Given the description of an element on the screen output the (x, y) to click on. 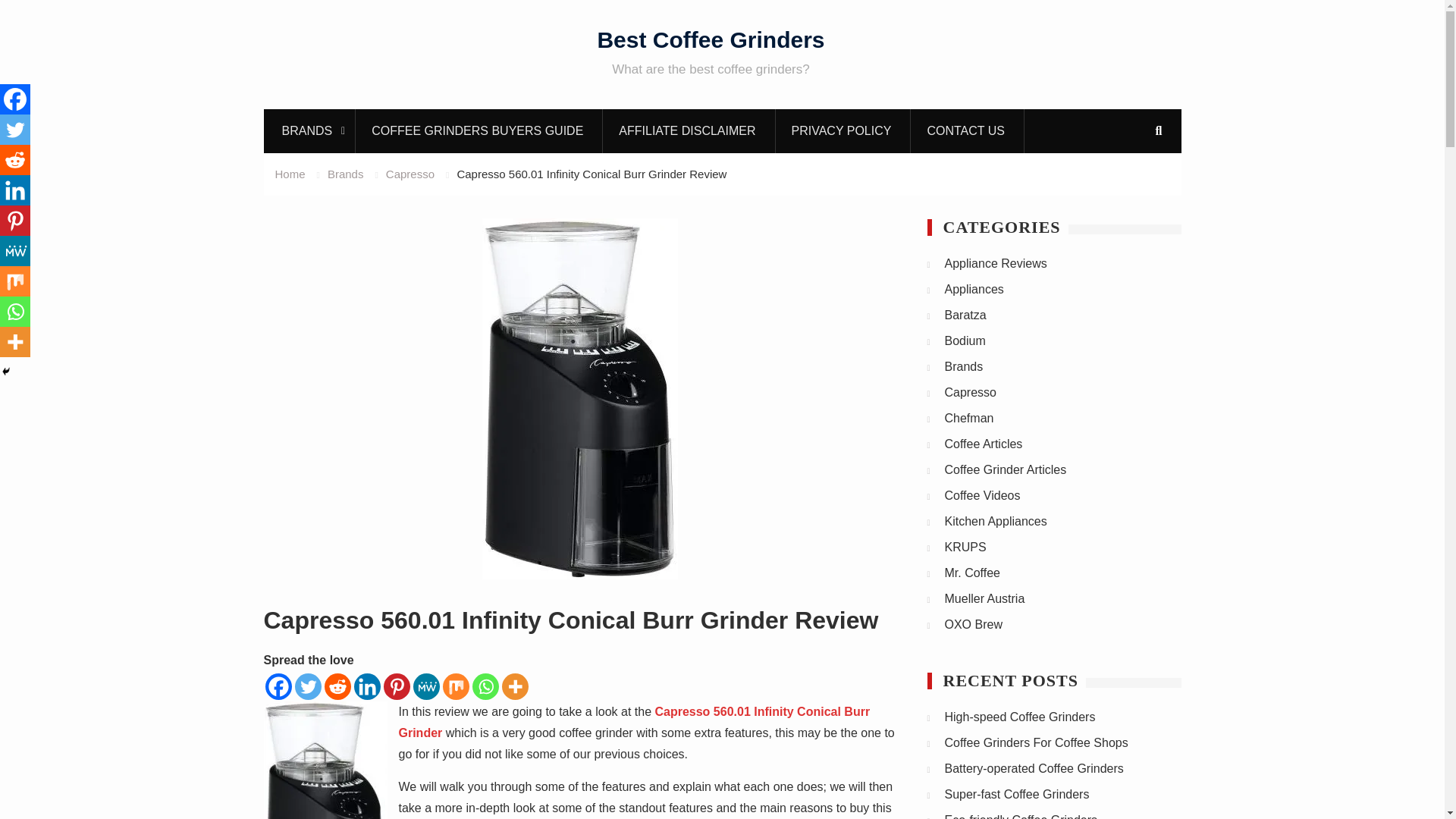
MeWe (15, 250)
Capresso (409, 173)
More (515, 686)
Facebook (15, 99)
Brands (345, 173)
Reddit (15, 159)
Facebook (278, 686)
AFFILIATE DISCLAIMER (686, 130)
Twitter (15, 129)
MeWe (425, 686)
Mix (455, 686)
Linkedin (366, 686)
Pinterest (397, 686)
Home (289, 173)
BRANDS (309, 130)
